Given the description of an element on the screen output the (x, y) to click on. 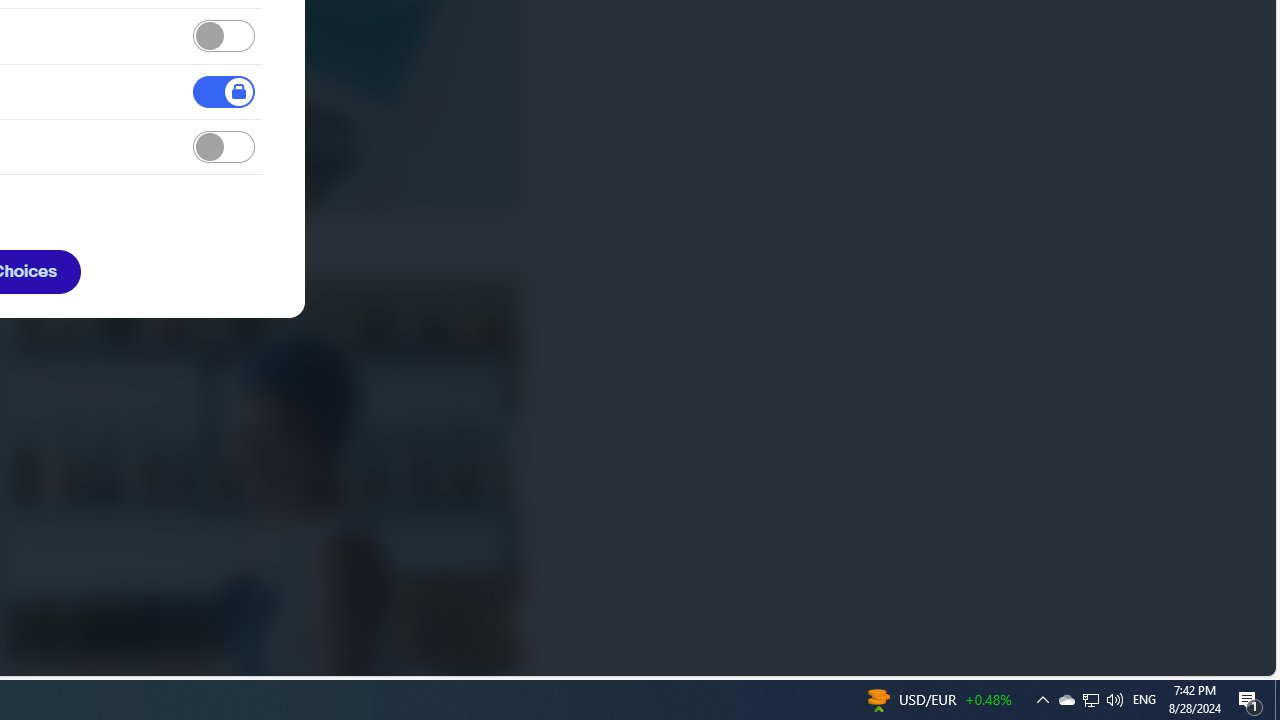
Performance Cookies (223, 36)
Targeting Cookies (223, 147)
